Given the description of an element on the screen output the (x, y) to click on. 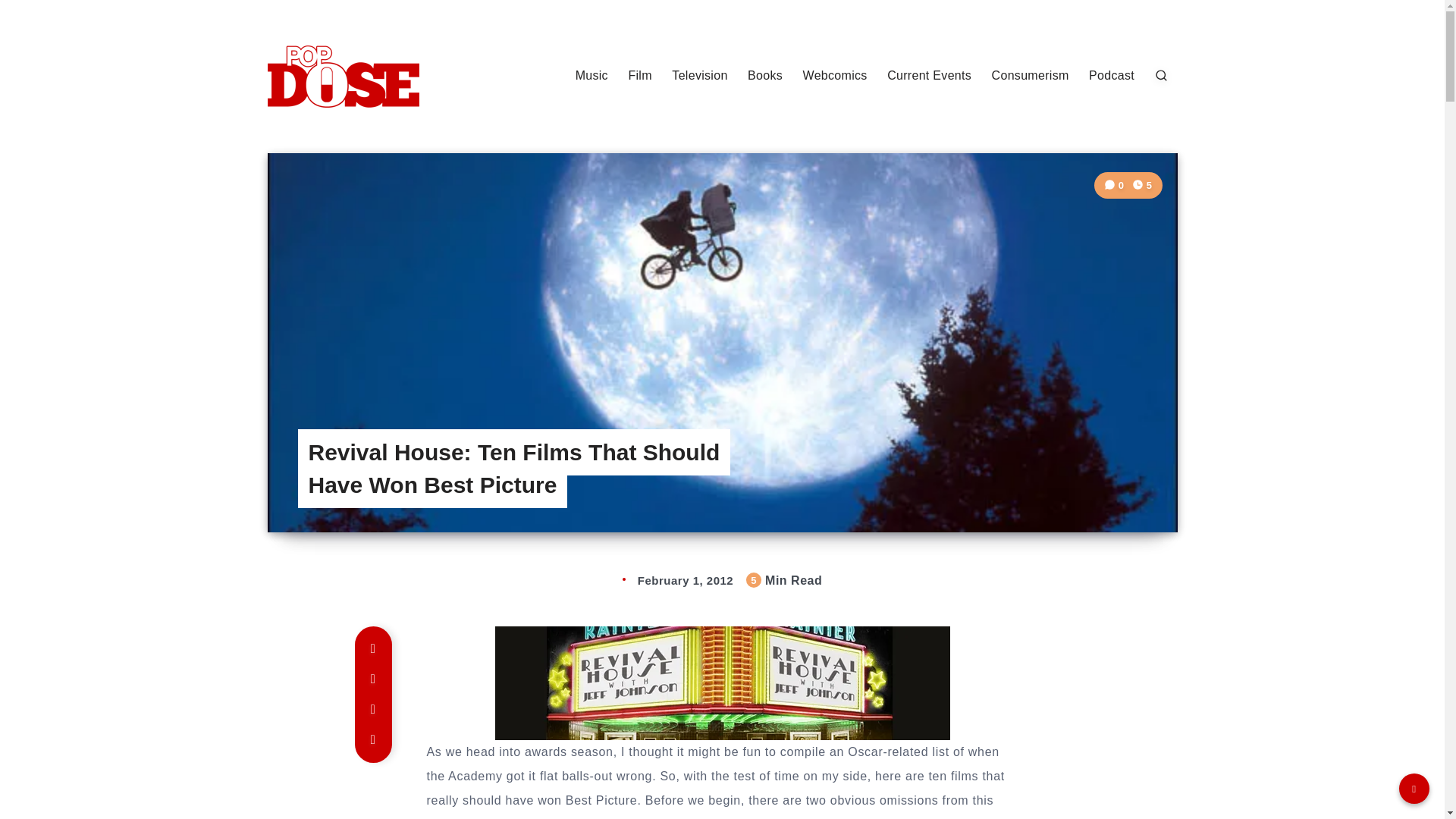
0 (1114, 184)
Podcast (1111, 75)
Film (638, 75)
0 Comments (1114, 184)
Books (765, 75)
Webcomics (835, 75)
5 Min Read (1142, 185)
Consumerism (1029, 75)
Television (698, 75)
Current Events (928, 75)
Music (591, 75)
